Given the description of an element on the screen output the (x, y) to click on. 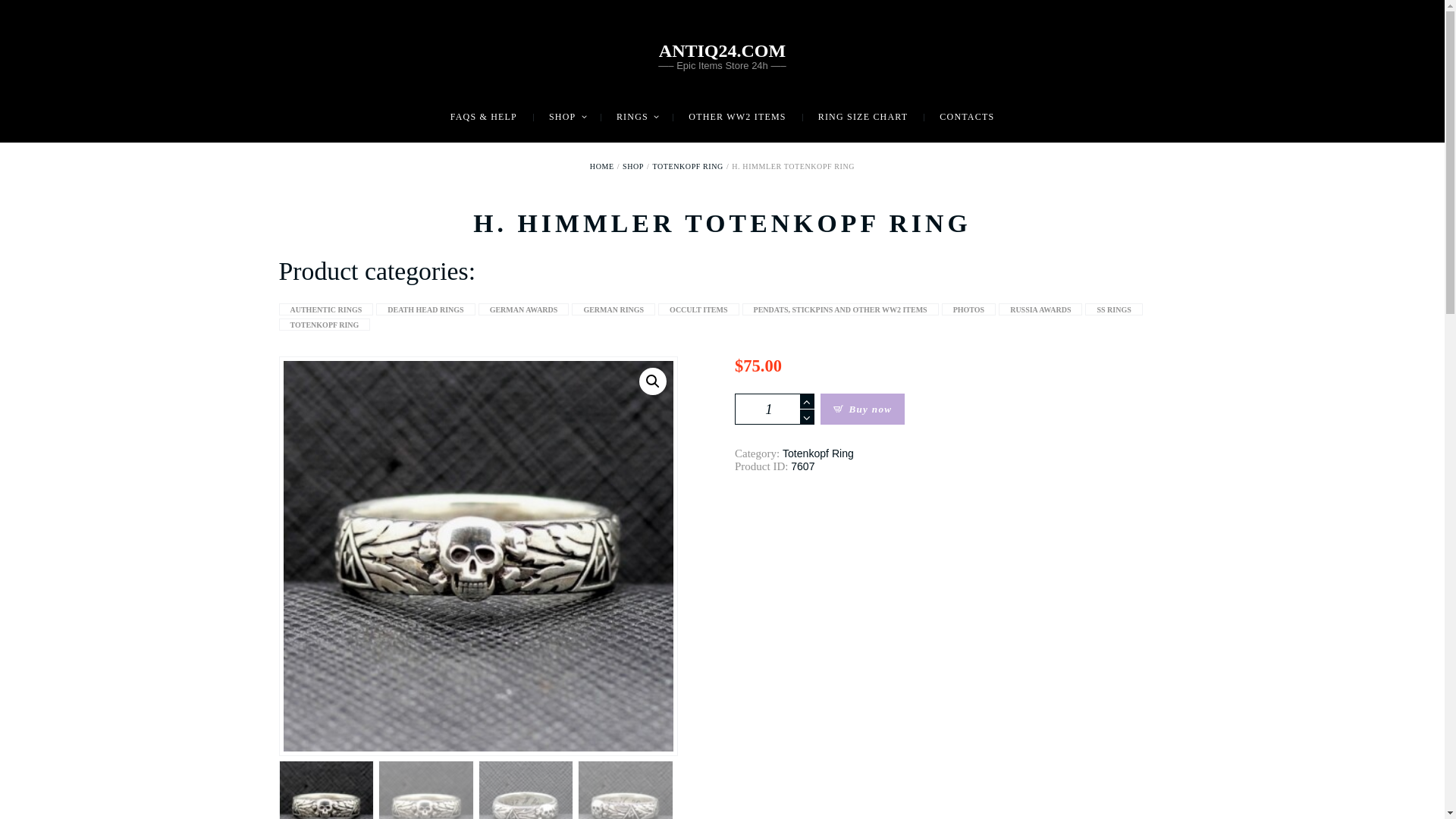
PHOTOS (968, 309)
CONTACTS (966, 117)
HOME (601, 165)
SHOP (633, 166)
TOTENKOPF RING (687, 165)
SS RINGS (1112, 309)
AUTHENTIC RINGS (326, 309)
OCCULT ITEMS (698, 309)
RING SIZE CHART (863, 117)
